Given the description of an element on the screen output the (x, y) to click on. 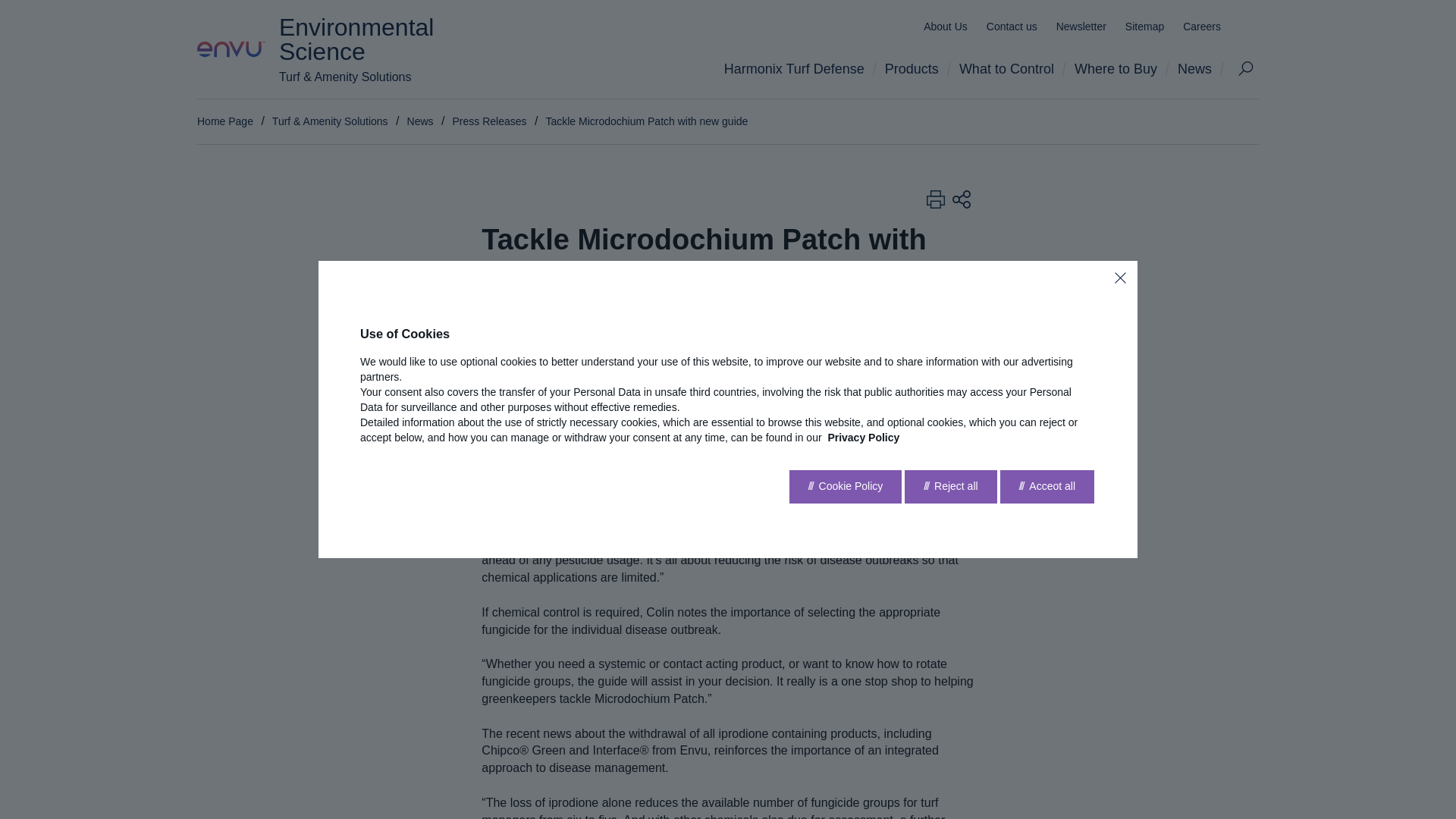
Newsletter (1081, 26)
Harmonix Turf Defense (798, 68)
Contact us (1011, 26)
Search (1245, 68)
Sitemap (1144, 26)
News (1199, 68)
Press Releases (488, 121)
News (420, 121)
What to Control (1010, 68)
Careers (1201, 26)
